Given the description of an element on the screen output the (x, y) to click on. 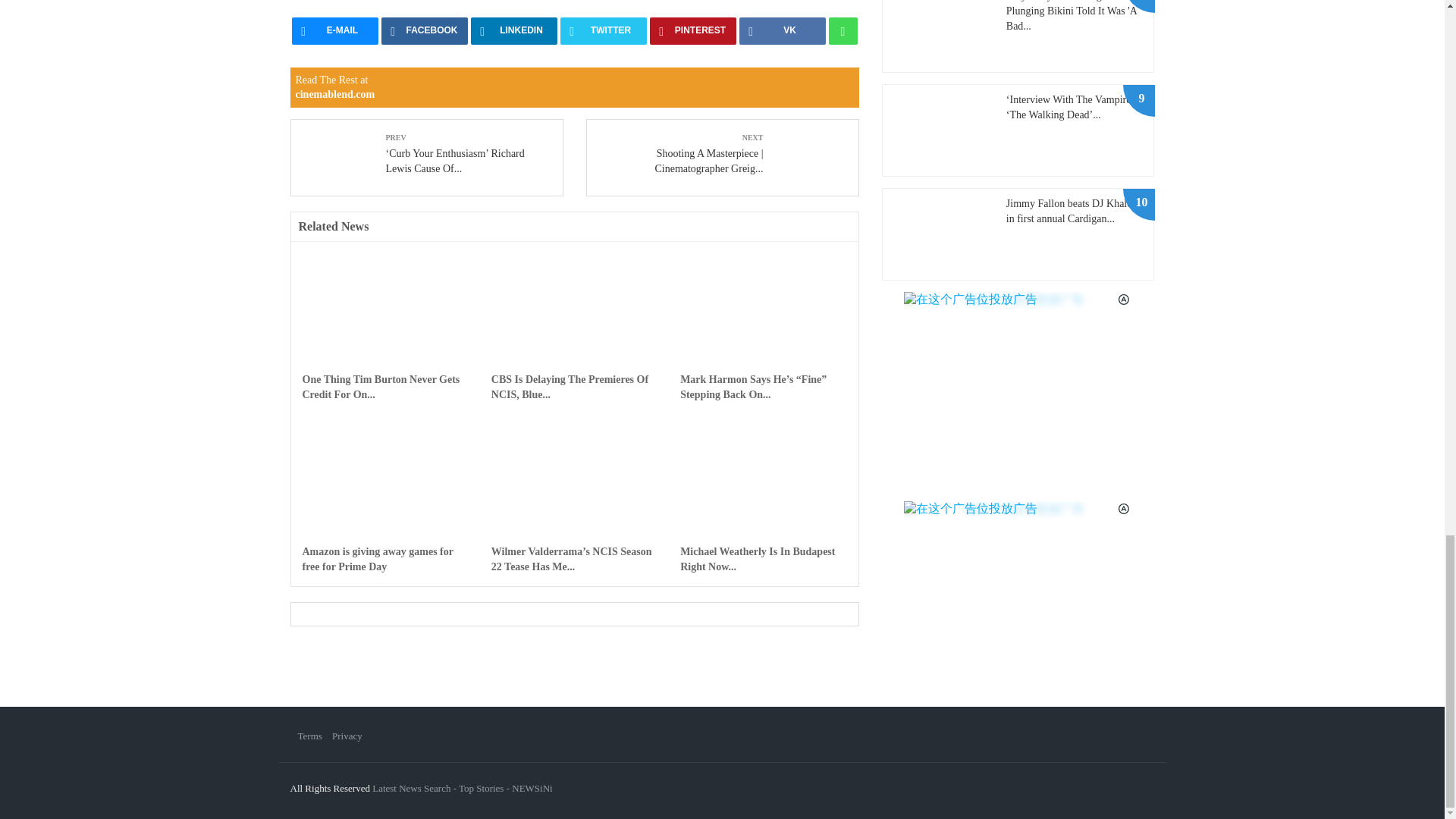
Amazon is giving away games for free for Prime Day (384, 499)
